Given the description of an element on the screen output the (x, y) to click on. 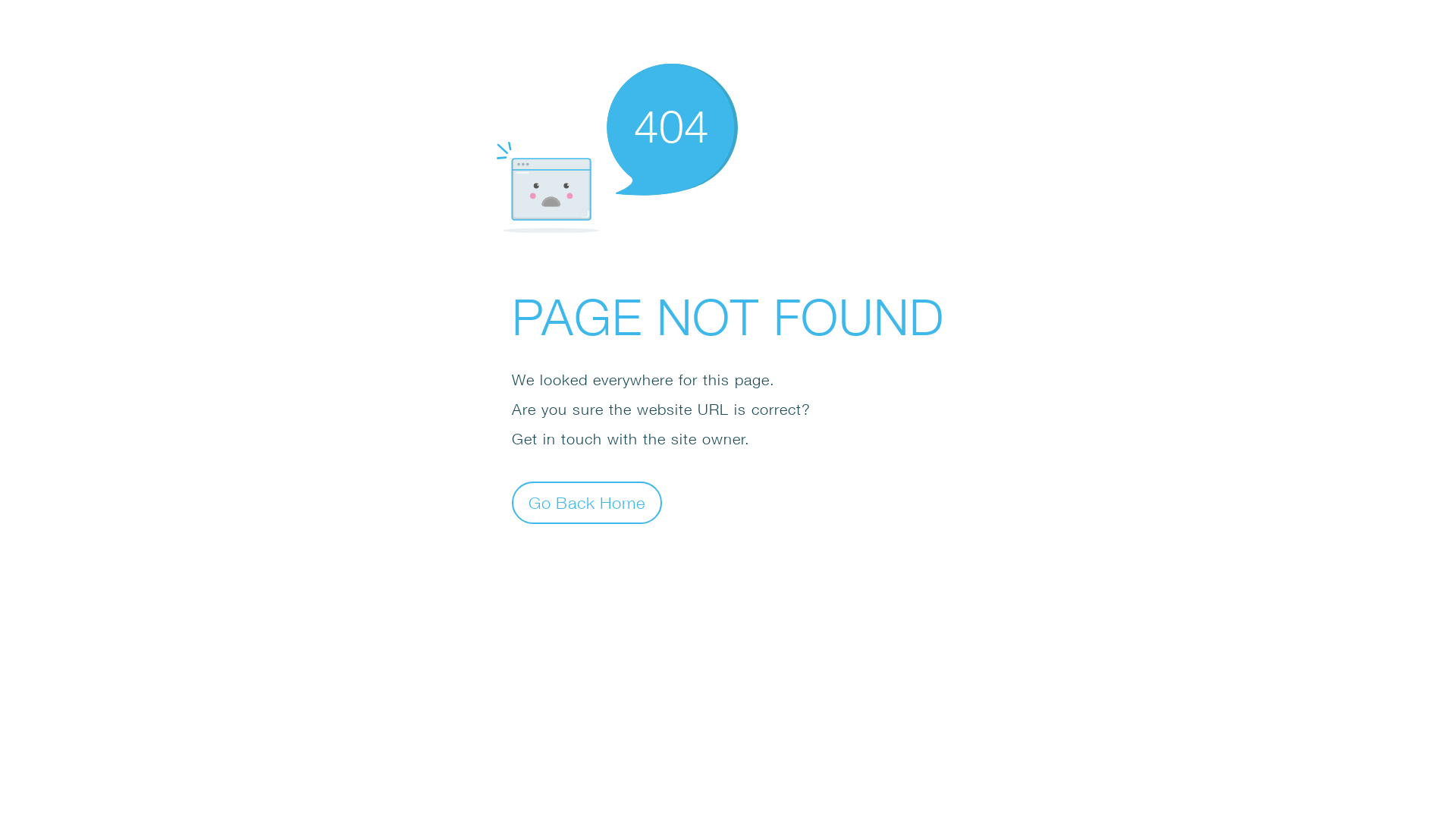
Go Back Home Element type: text (586, 502)
